Given the description of an element on the screen output the (x, y) to click on. 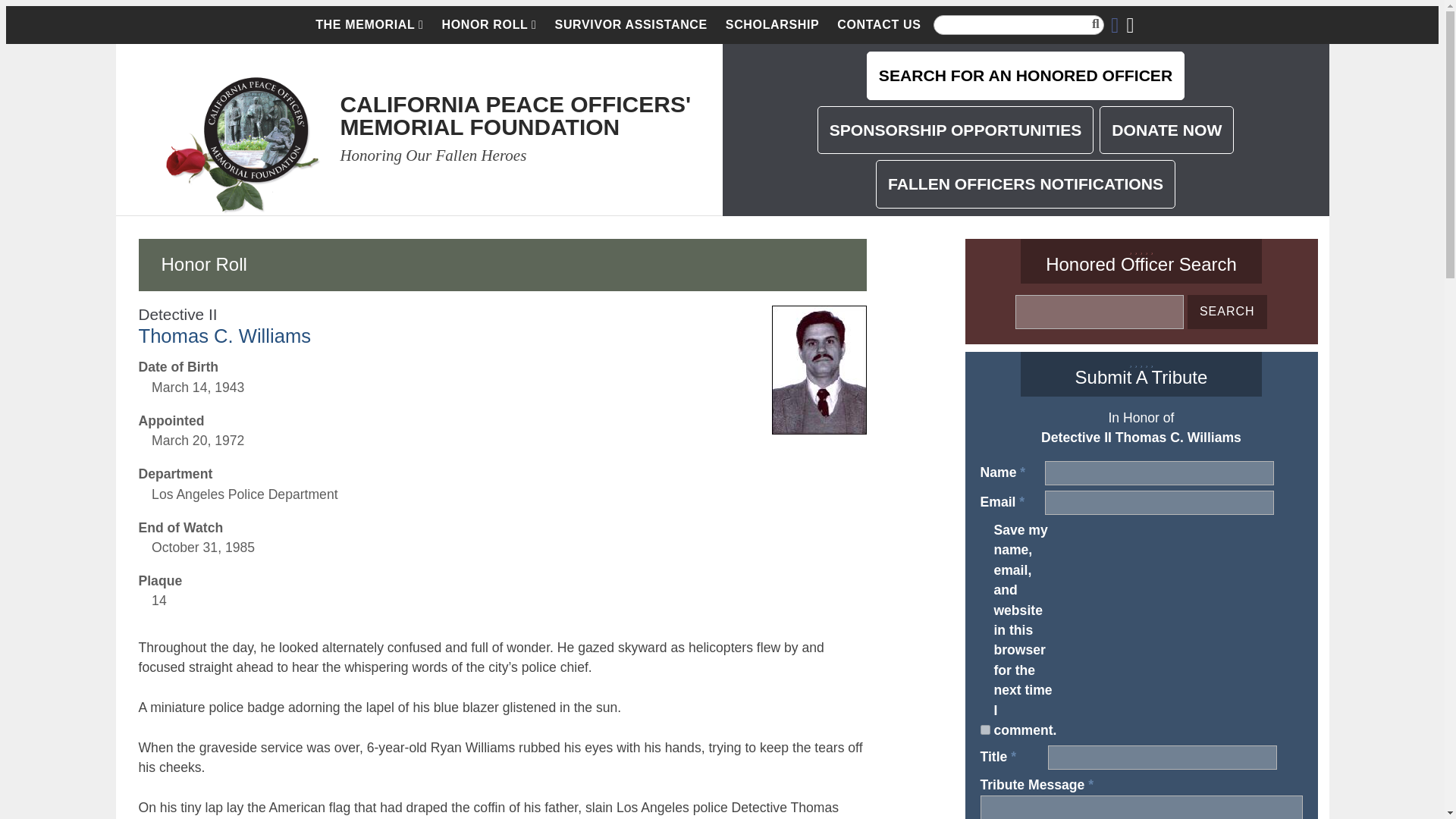
HONOR ROLL (489, 24)
Search (1227, 311)
SEARCH FOR AN HONORED OFFICER (1025, 75)
SURVIVOR ASSISTANCE (631, 24)
THE MEMORIAL (368, 24)
Search (1227, 311)
SCHOLARSHIP (772, 24)
yes (984, 729)
CONTACT US (879, 24)
